Given the description of an element on the screen output the (x, y) to click on. 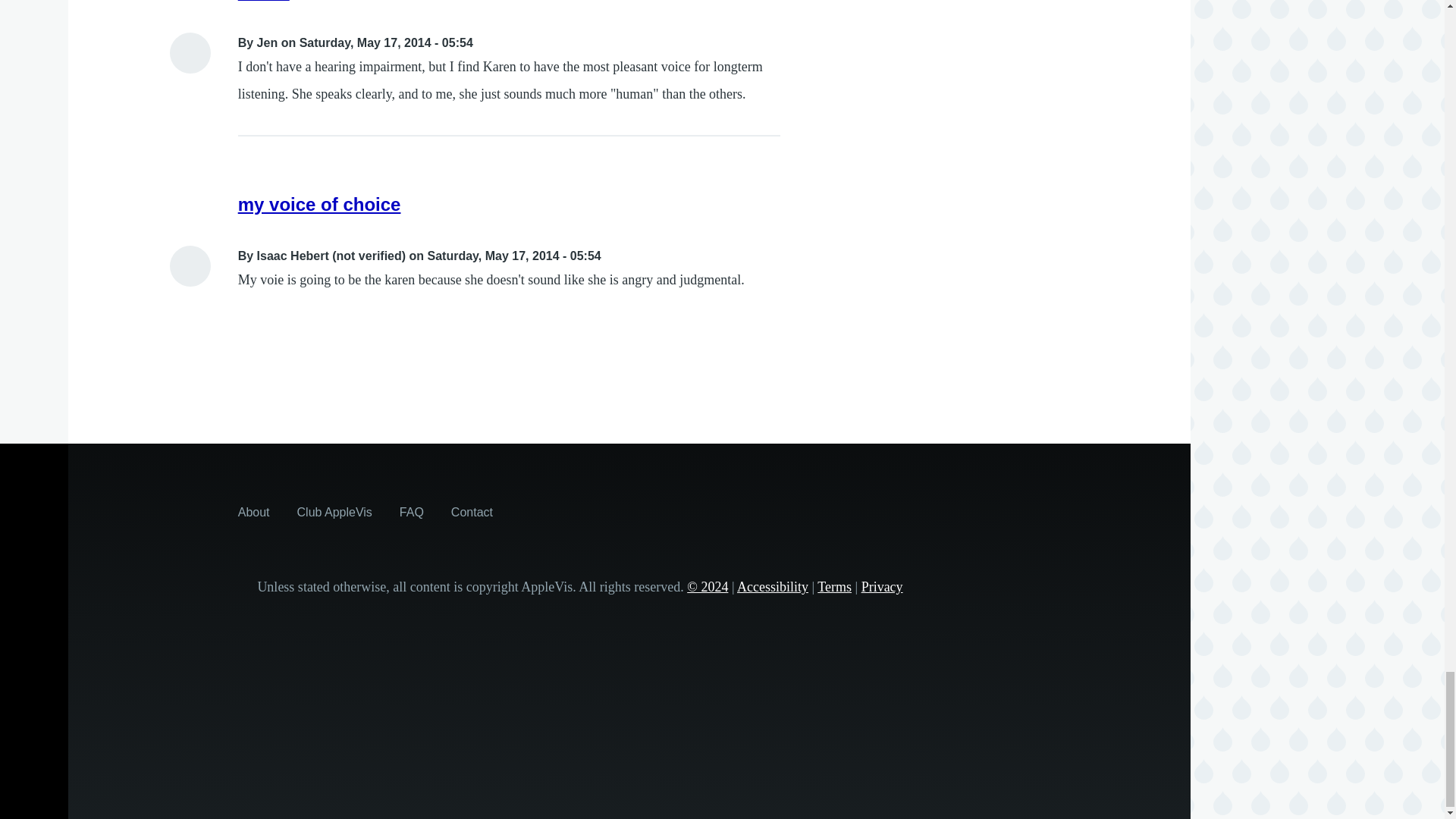
Karen (263, 0)
Answers to some frequently asked questions about AppleVis (410, 511)
About (253, 511)
my voice of choice (319, 204)
